Given the description of an element on the screen output the (x, y) to click on. 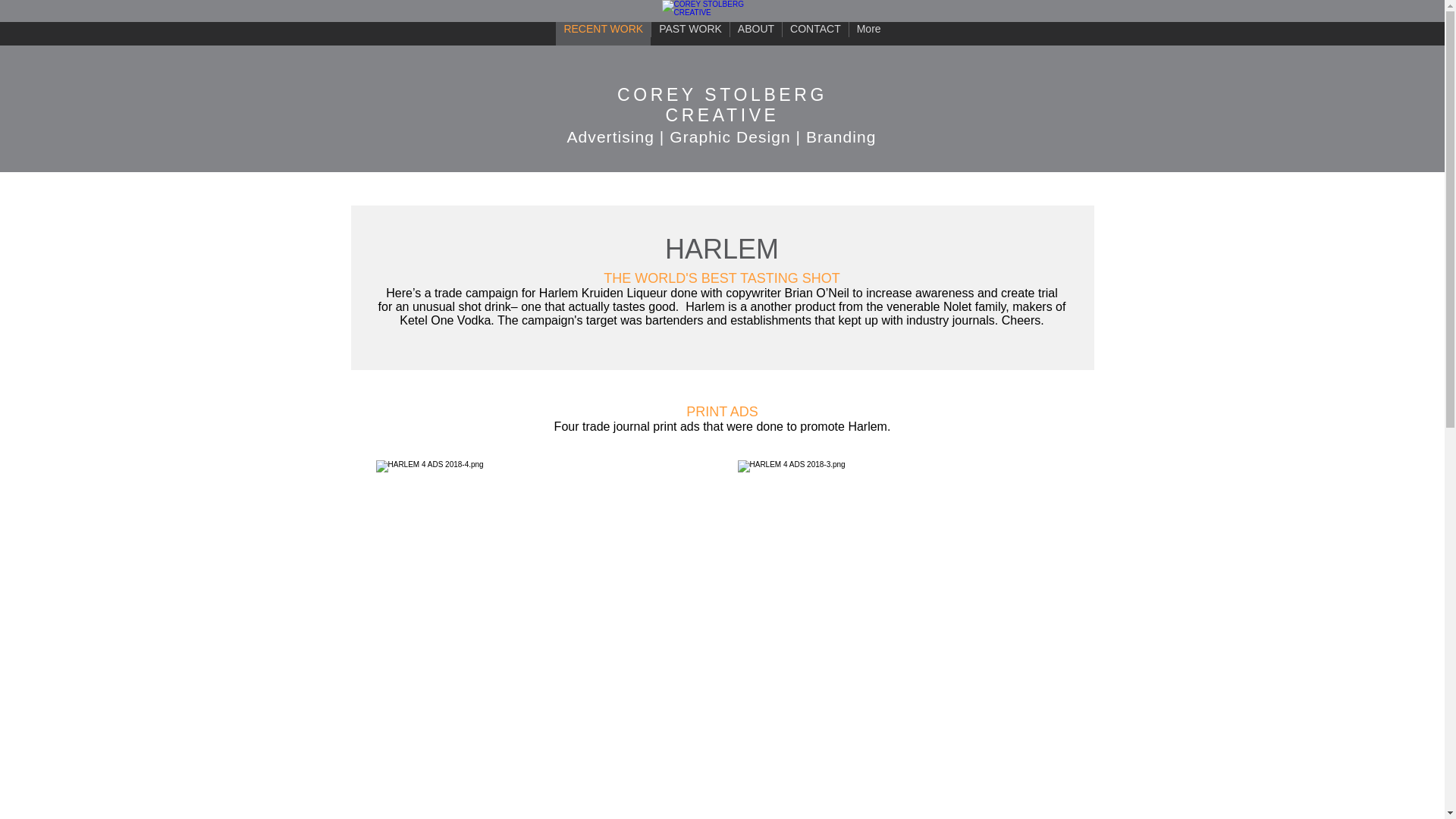
PAST WORK (689, 33)
RECENT WORK (603, 33)
CONTACT (814, 33)
ABOUT (755, 33)
